Given the description of an element on the screen output the (x, y) to click on. 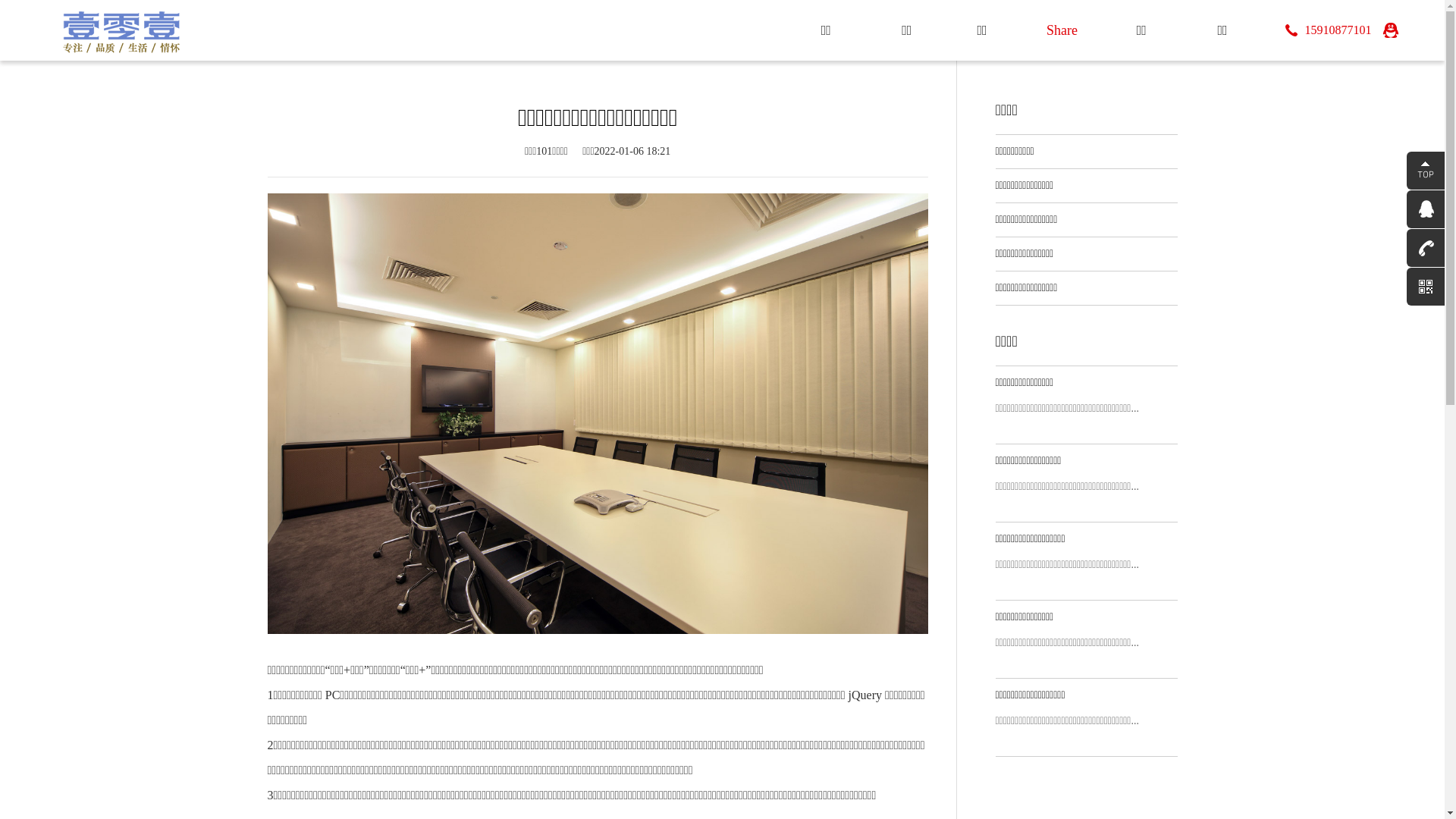
15910877101 Element type: text (1328, 29)
